Given the description of an element on the screen output the (x, y) to click on. 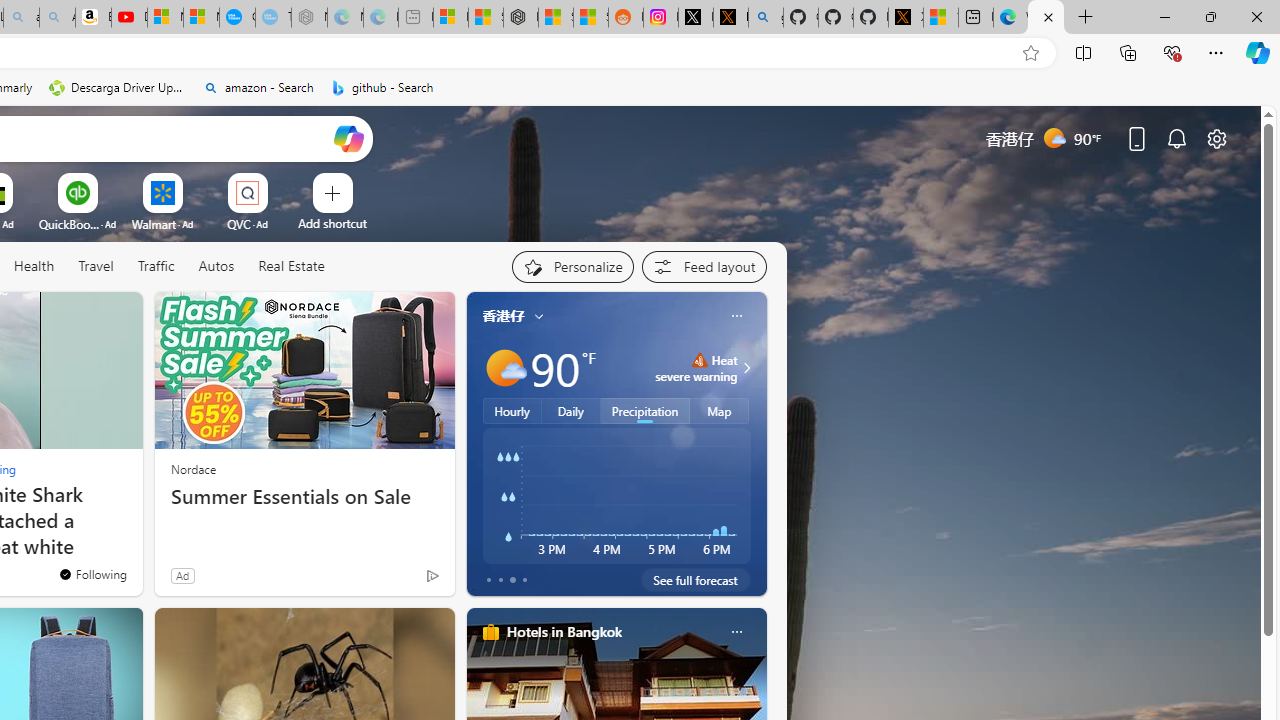
Traffic (155, 265)
My location (538, 315)
Autos (216, 267)
Class: icon-img (736, 632)
See full forecast (695, 579)
Minimize (1164, 16)
amazon - Search (258, 88)
Health (33, 267)
See more (118, 315)
Opinion: Op-Ed and Commentary - USA TODAY (237, 17)
